Given the description of an element on the screen output the (x, y) to click on. 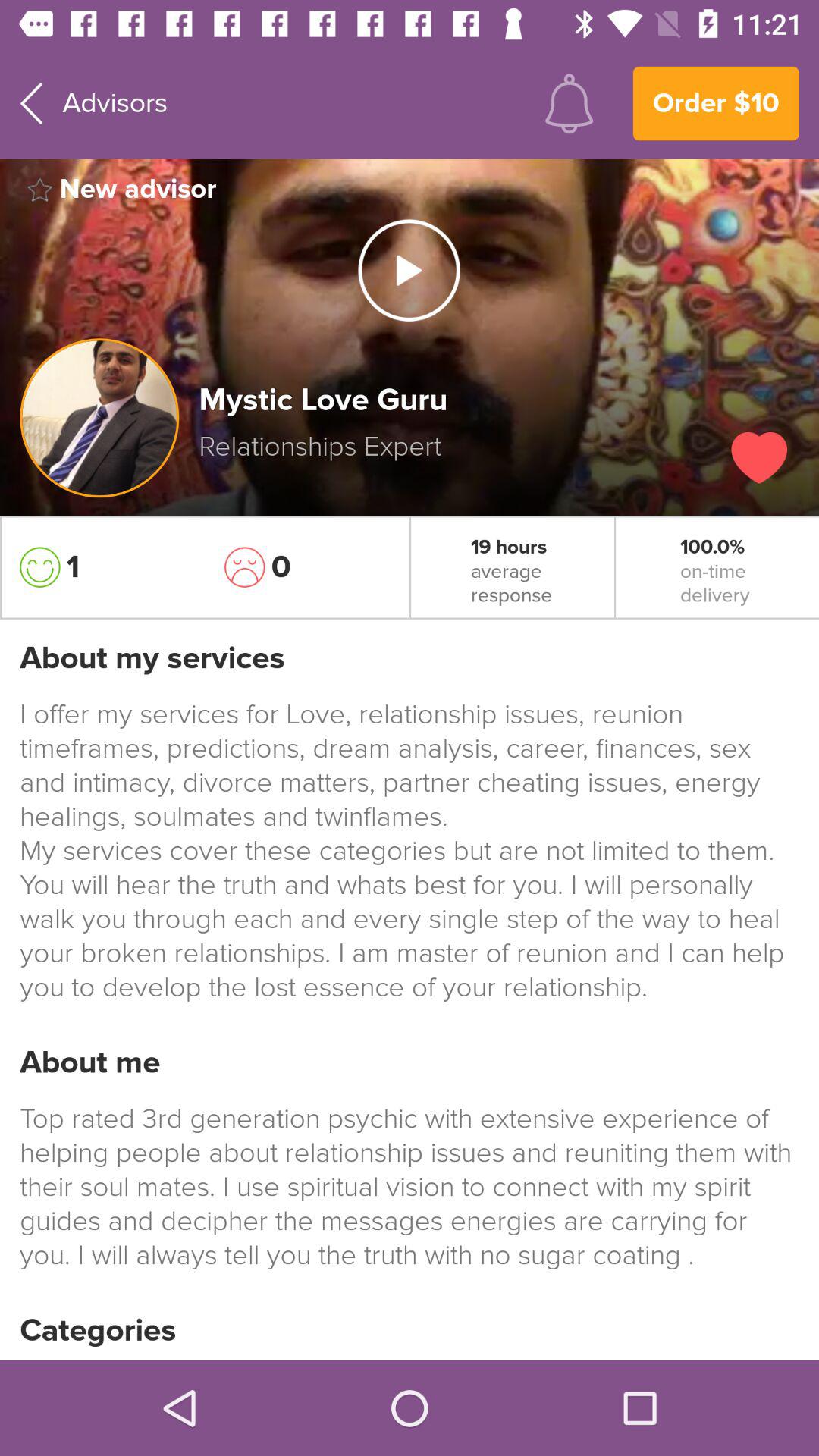
play the video (409, 270)
